Given the description of an element on the screen output the (x, y) to click on. 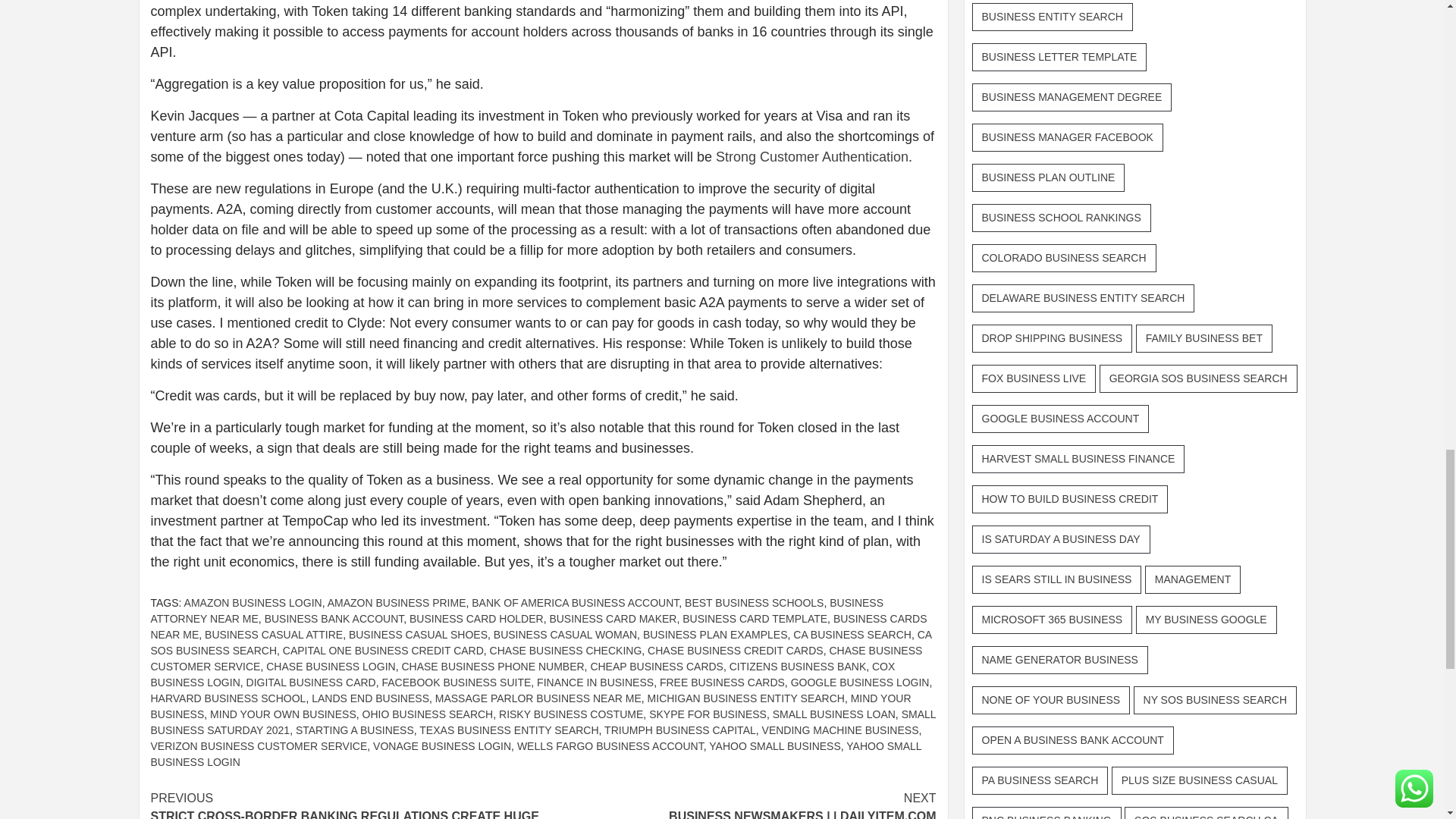
BUSINESS ATTORNEY NEAR ME (516, 610)
BUSINESS BANK ACCOUNT (334, 618)
BUSINESS CARDS NEAR ME (537, 626)
Strong Customer Authentication (812, 156)
BUSINESS CARD HOLDER (476, 618)
AMAZON BUSINESS PRIME (396, 603)
BUSINESS CARD TEMPLATE (754, 618)
BANK OF AMERICA BUSINESS ACCOUNT (574, 603)
BUSINESS CASUAL ATTIRE (273, 634)
BUSINESS CASUAL SHOES (418, 634)
AMAZON BUSINESS LOGIN (252, 603)
BUSINESS CARD MAKER (612, 618)
BEST BUSINESS SCHOOLS (754, 603)
